Given the description of an element on the screen output the (x, y) to click on. 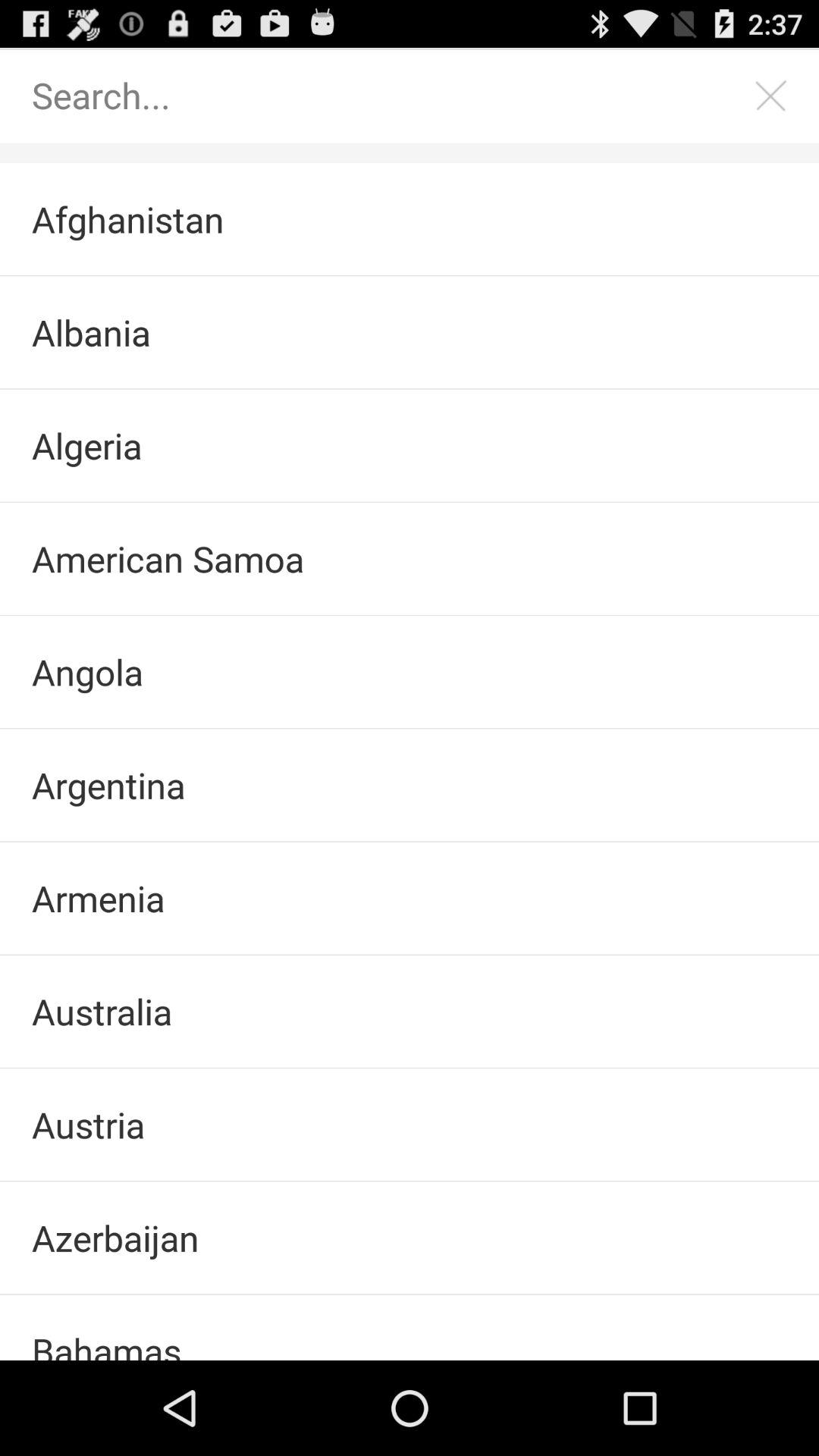
country (393, 95)
